Given the description of an element on the screen output the (x, y) to click on. 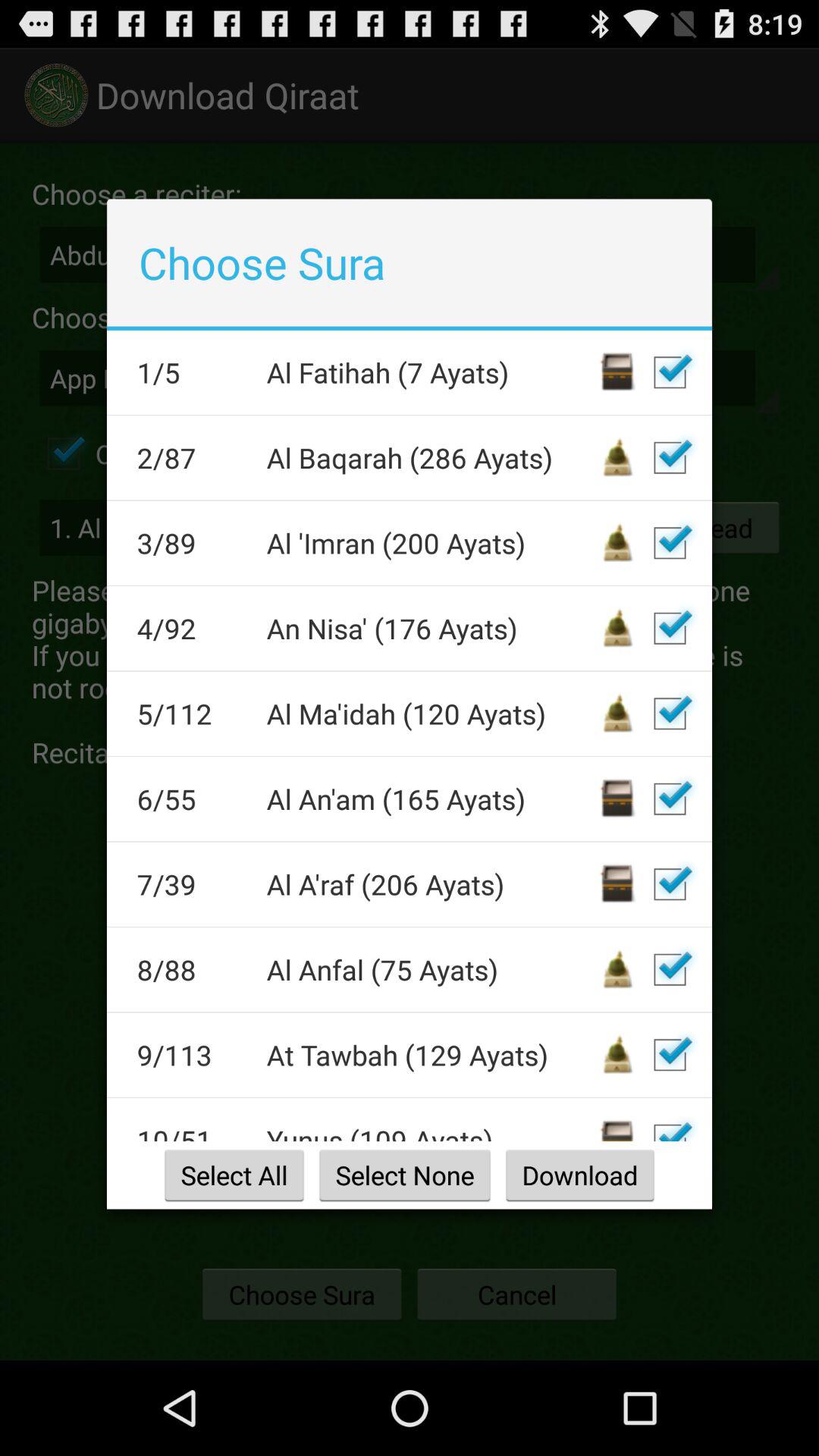
click icon next to the select all (404, 1175)
